Given the description of an element on the screen output the (x, y) to click on. 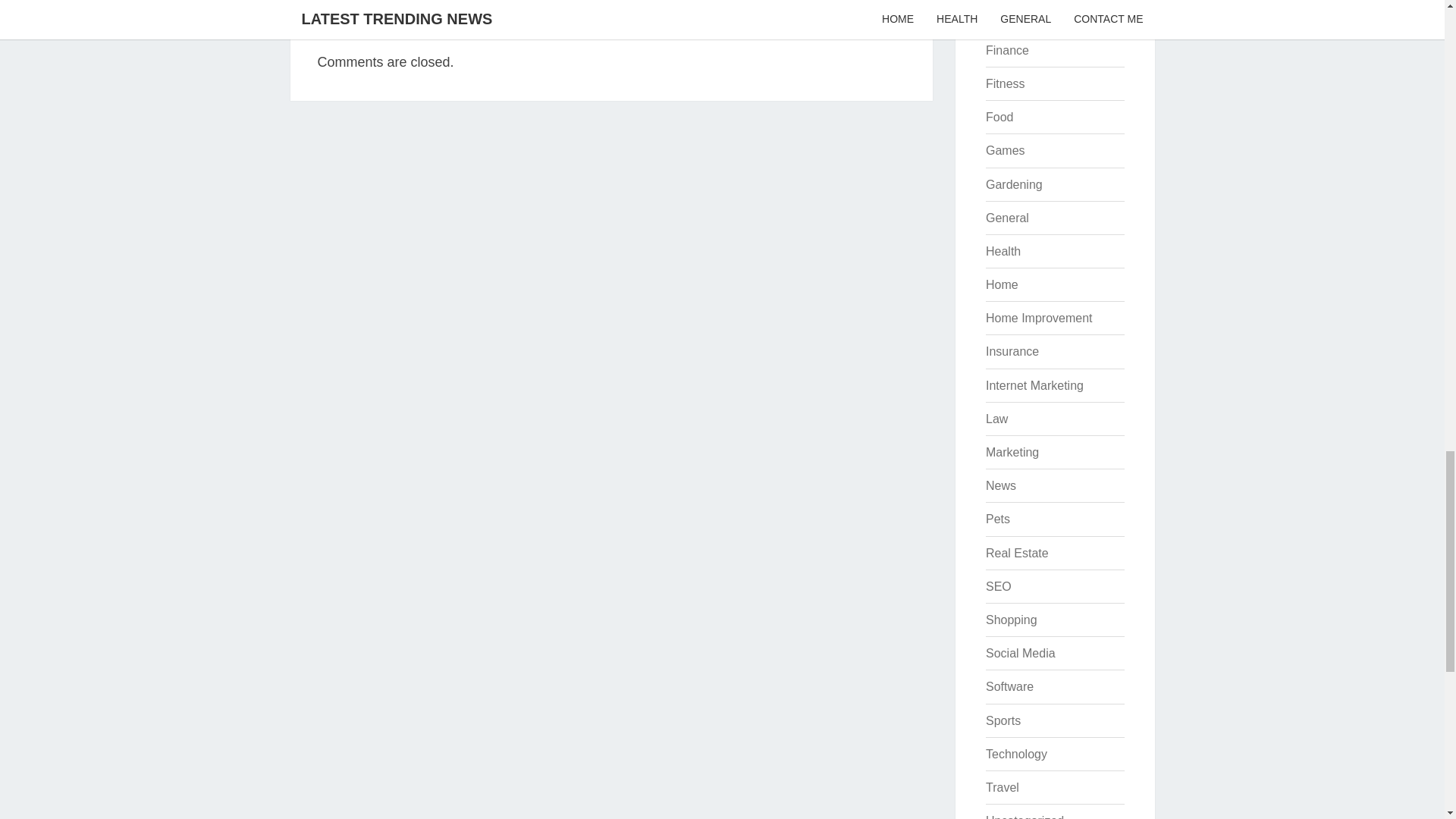
Health (1002, 250)
Fitness (1005, 83)
Games (1005, 150)
Finance (1007, 50)
Food (999, 116)
General (1007, 217)
Gardening (1013, 184)
Home Improvement (1039, 318)
Fashion (1007, 16)
Home (1001, 284)
